Given the description of an element on the screen output the (x, y) to click on. 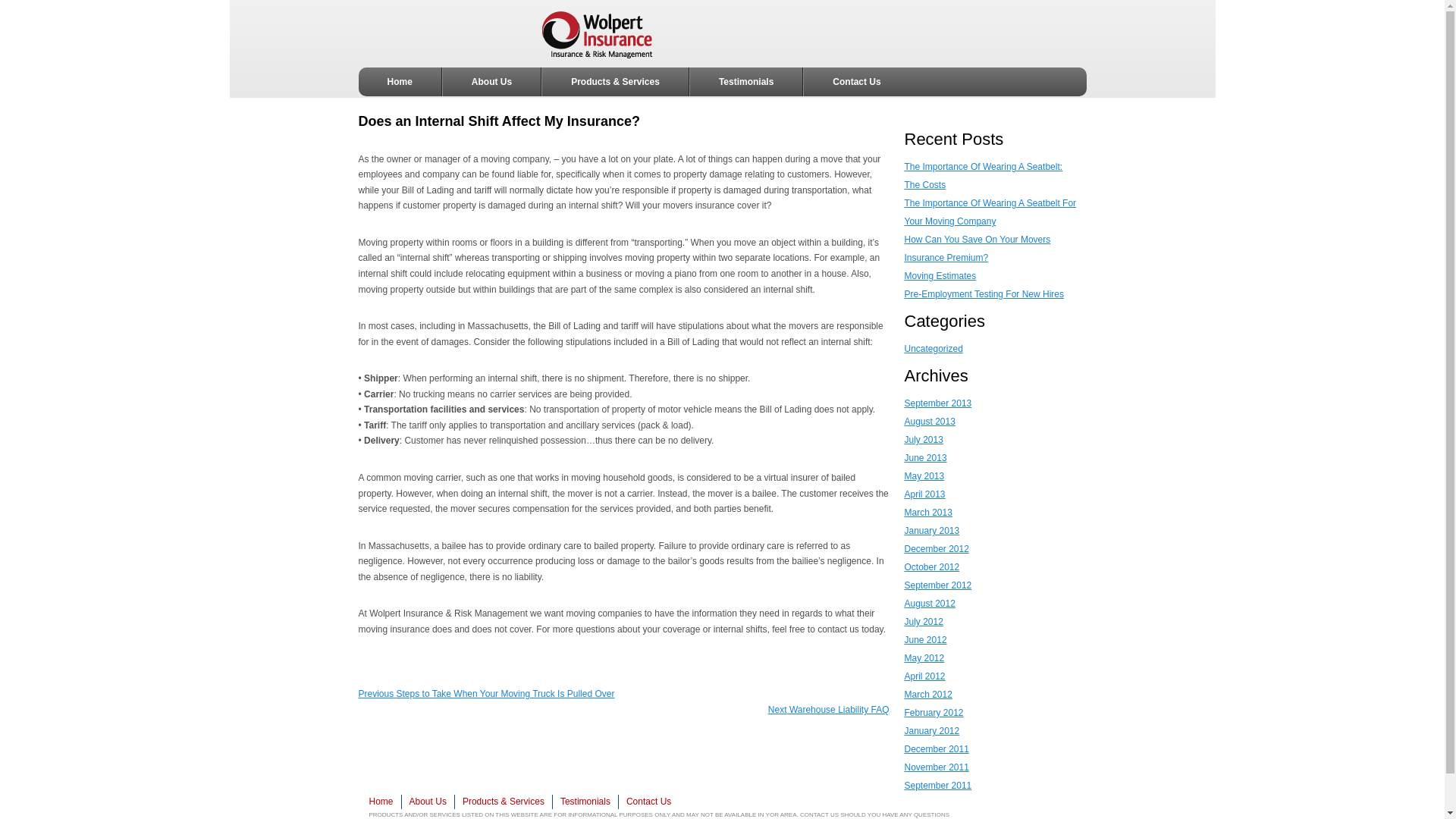
Pre-Employment Testing For New Hires (984, 294)
Home (384, 801)
September 2012 (937, 584)
About Us (491, 81)
August 2013 (929, 421)
April 2012 (828, 709)
December 2012 (924, 675)
September 2013 (936, 548)
Uncategorized (937, 403)
